Given the description of an element on the screen output the (x, y) to click on. 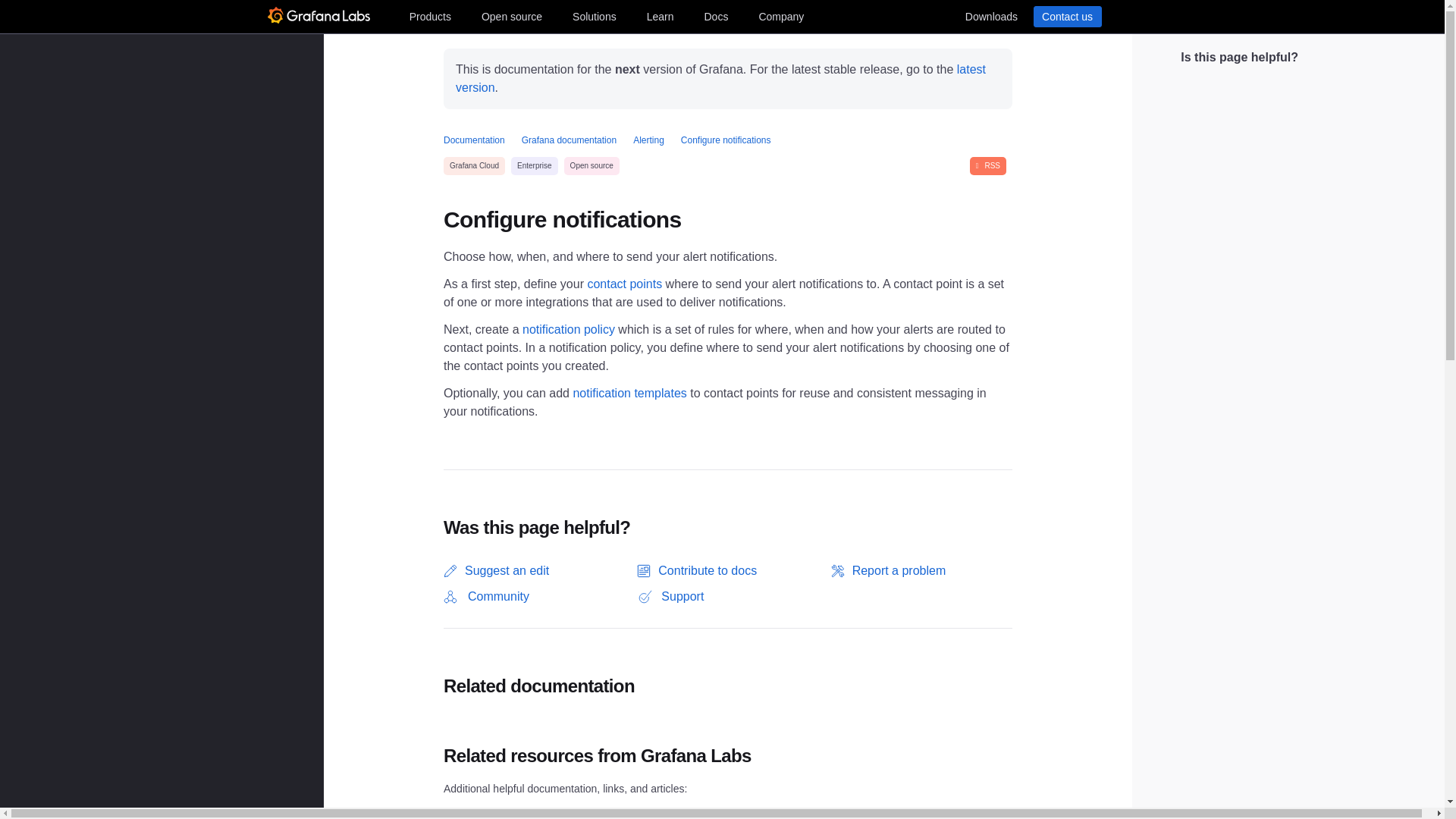
Open source (512, 16)
Contact us (1066, 16)
Products (429, 16)
Solutions (594, 16)
Company (780, 16)
Downloads (990, 16)
Docs (715, 16)
Learn (660, 16)
